Given the description of an element on the screen output the (x, y) to click on. 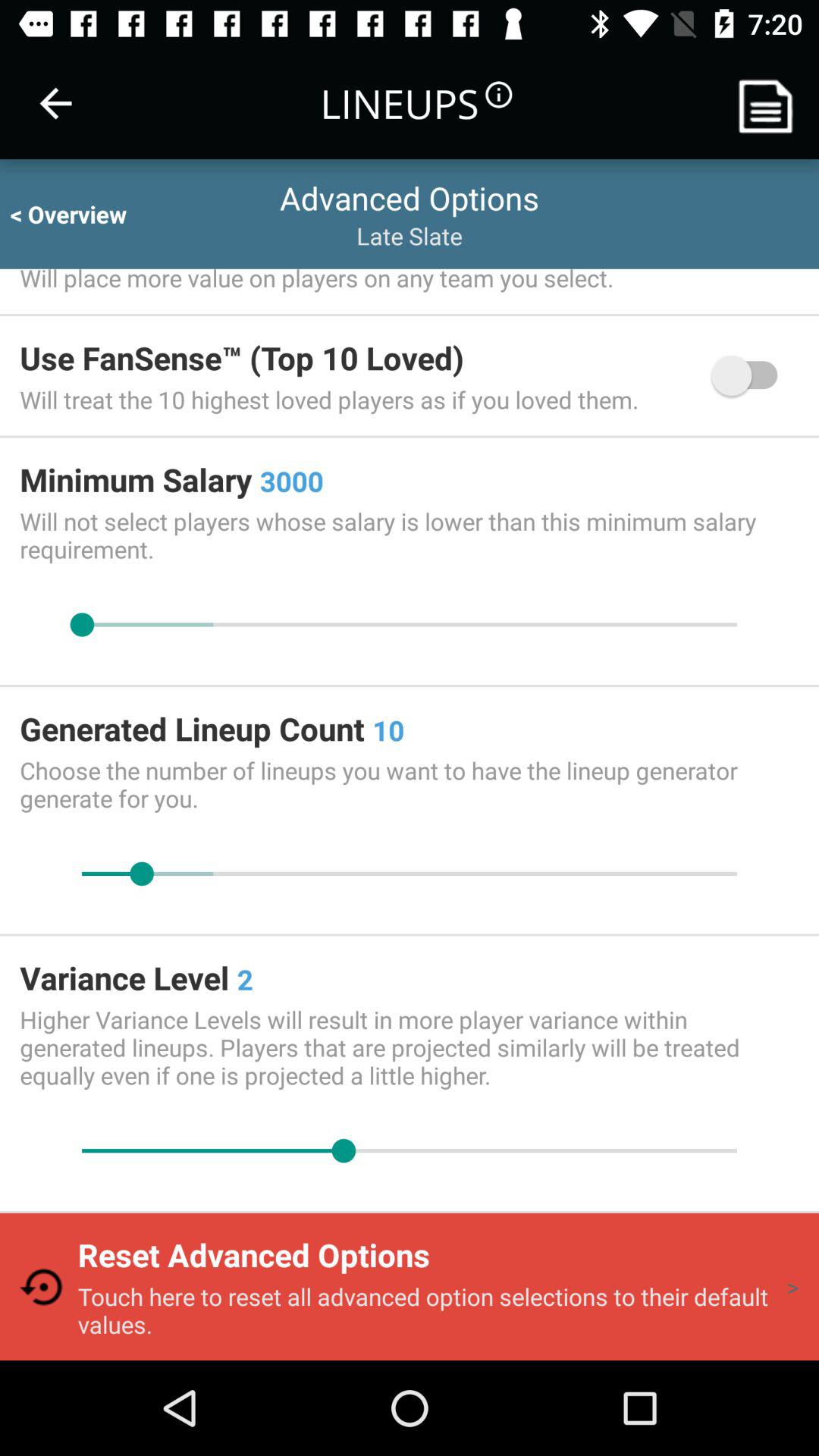
slide to modify variance (409, 1150)
